Given the description of an element on the screen output the (x, y) to click on. 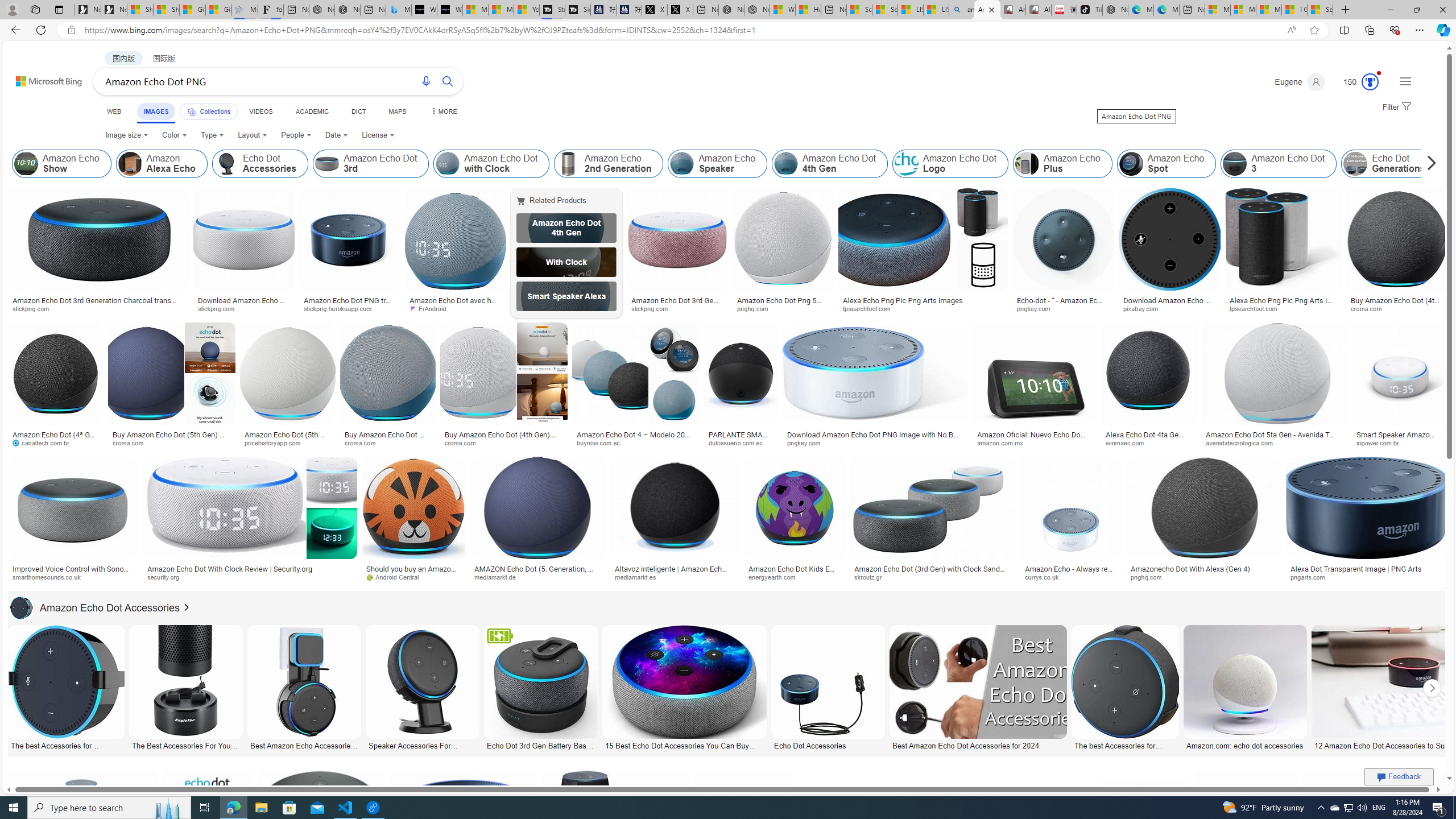
avenidatecnologica.com (1243, 442)
Microsoft Rewards 147 (1356, 81)
IMAGES (156, 111)
VIDEOS (260, 111)
stickpng.com (653, 308)
People (295, 135)
